Given the description of an element on the screen output the (x, y) to click on. 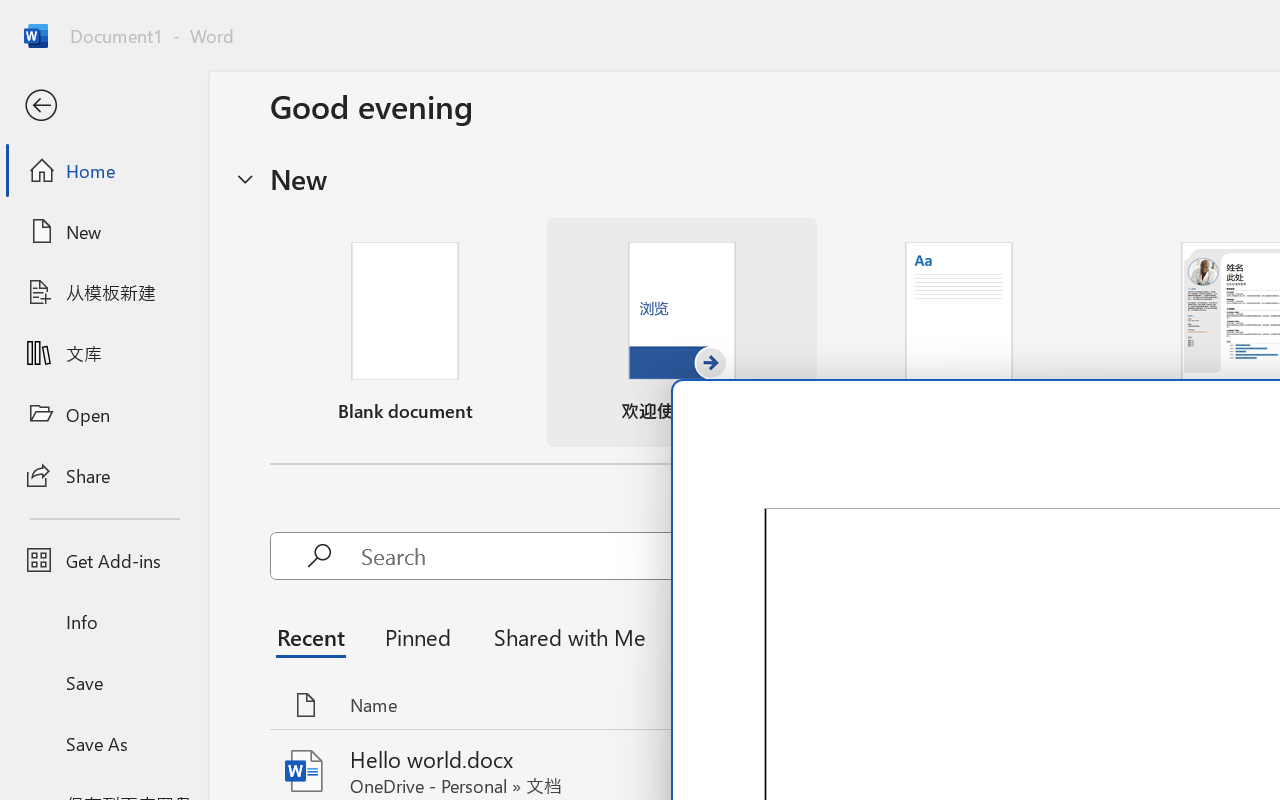
Save As (104, 743)
Blank document (405, 332)
